Given the description of an element on the screen output the (x, y) to click on. 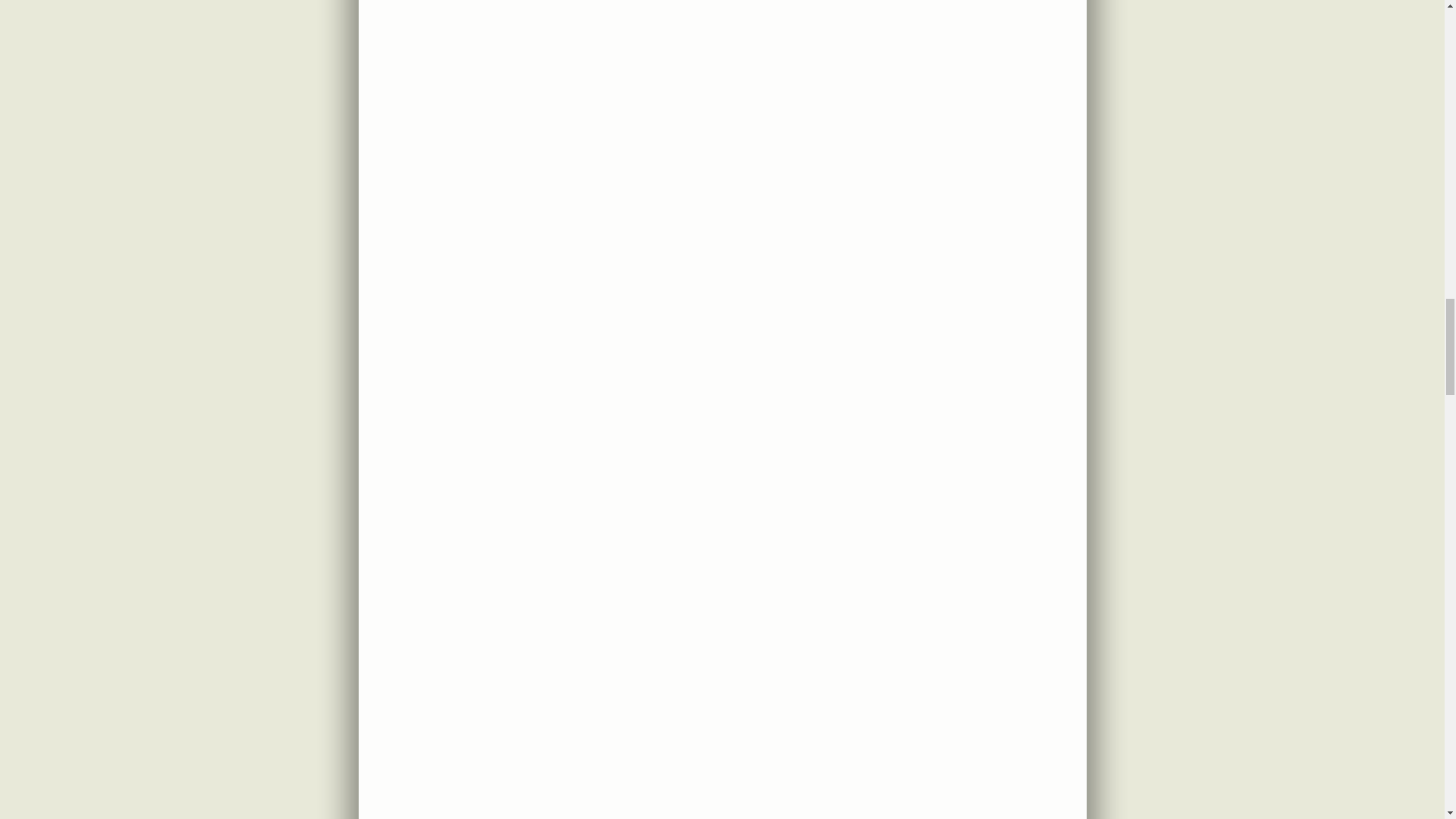
Washington DC Bride41 (722, 97)
Washington DC Bride49 (722, 747)
